Given the description of an element on the screen output the (x, y) to click on. 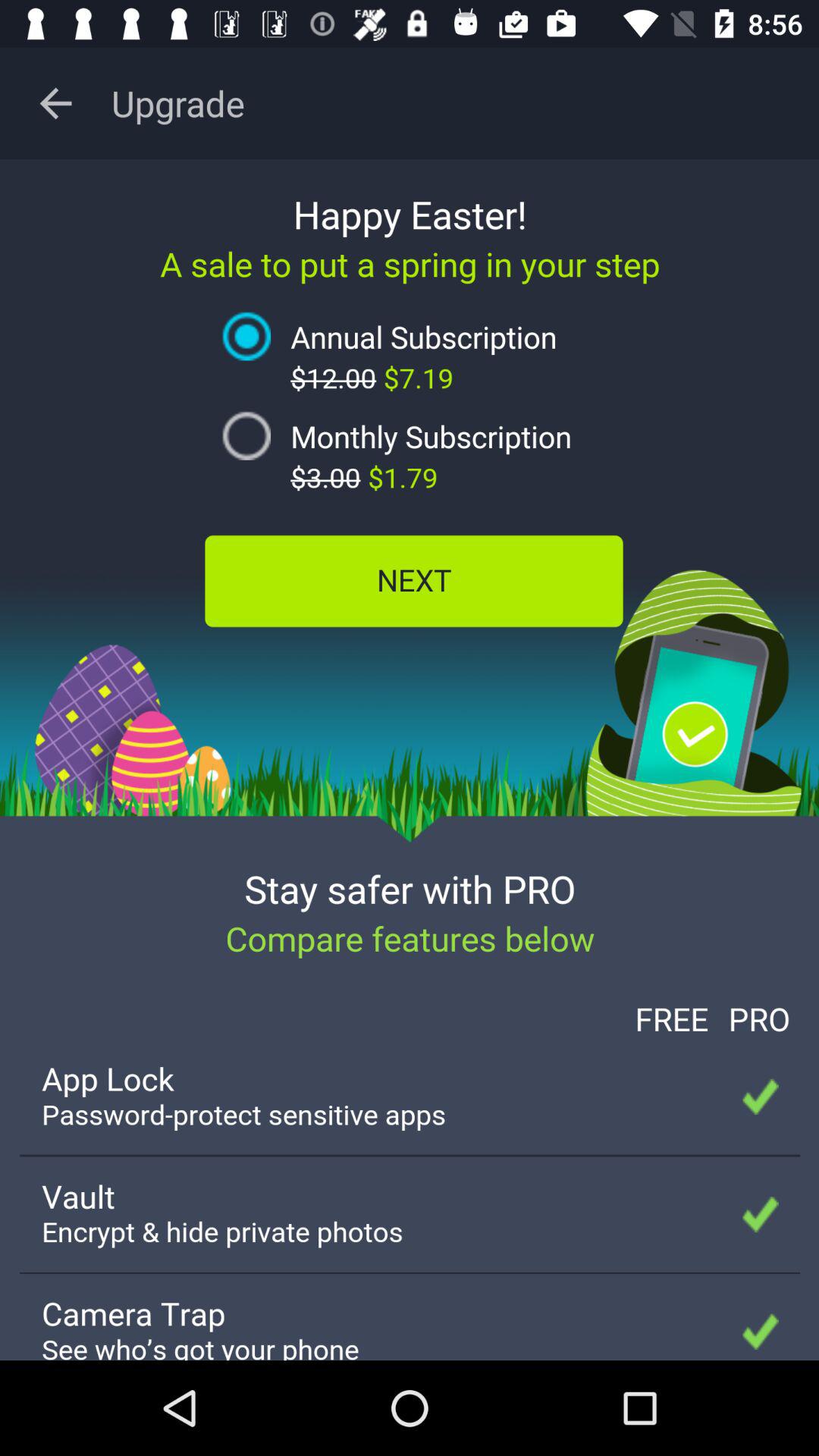
click the full page (409, 759)
